Given the description of an element on the screen output the (x, y) to click on. 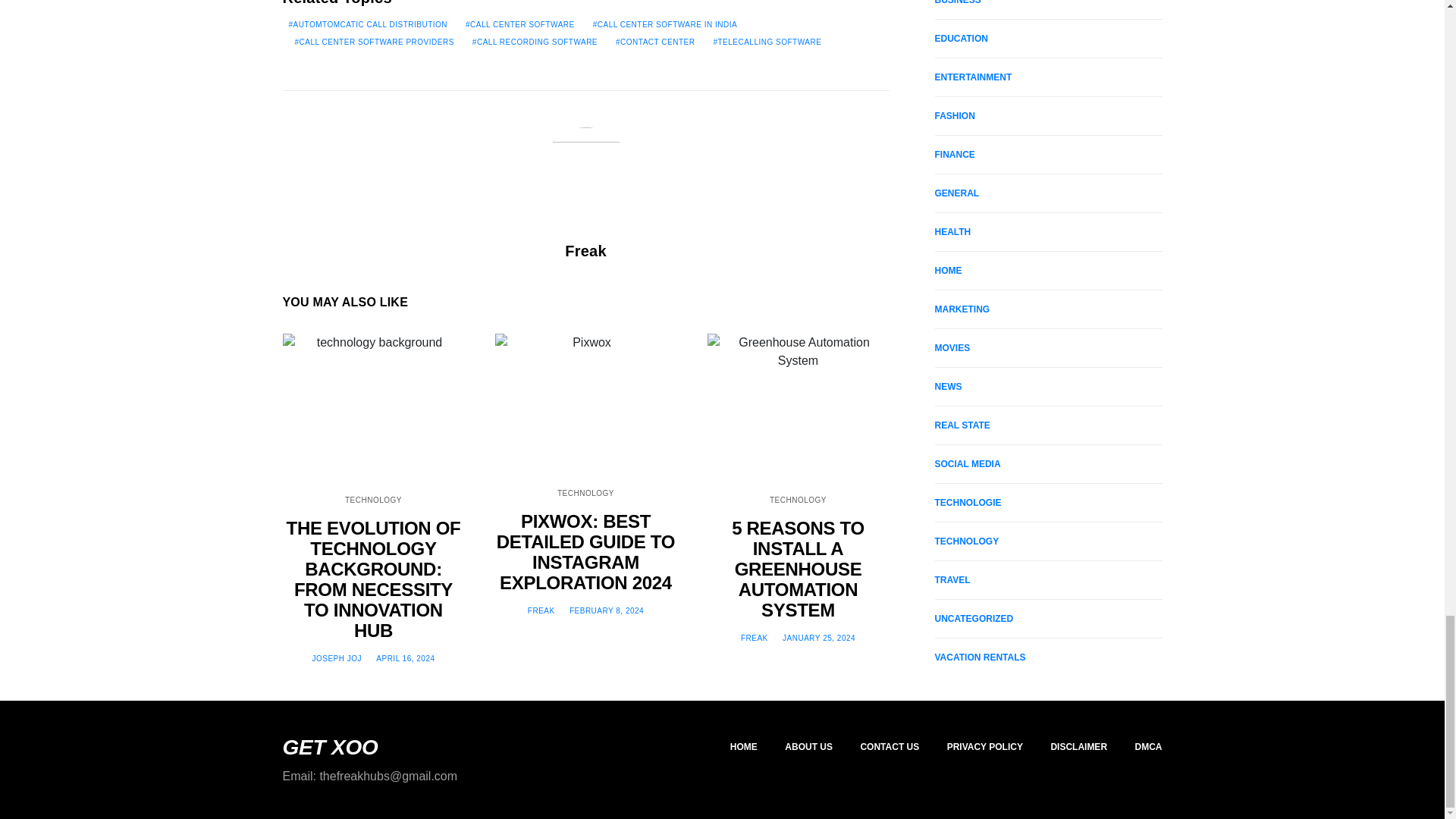
View all posts by Freak (754, 637)
View all posts by Freak (540, 610)
View all posts by Joseph Joj (336, 658)
